Given the description of an element on the screen output the (x, y) to click on. 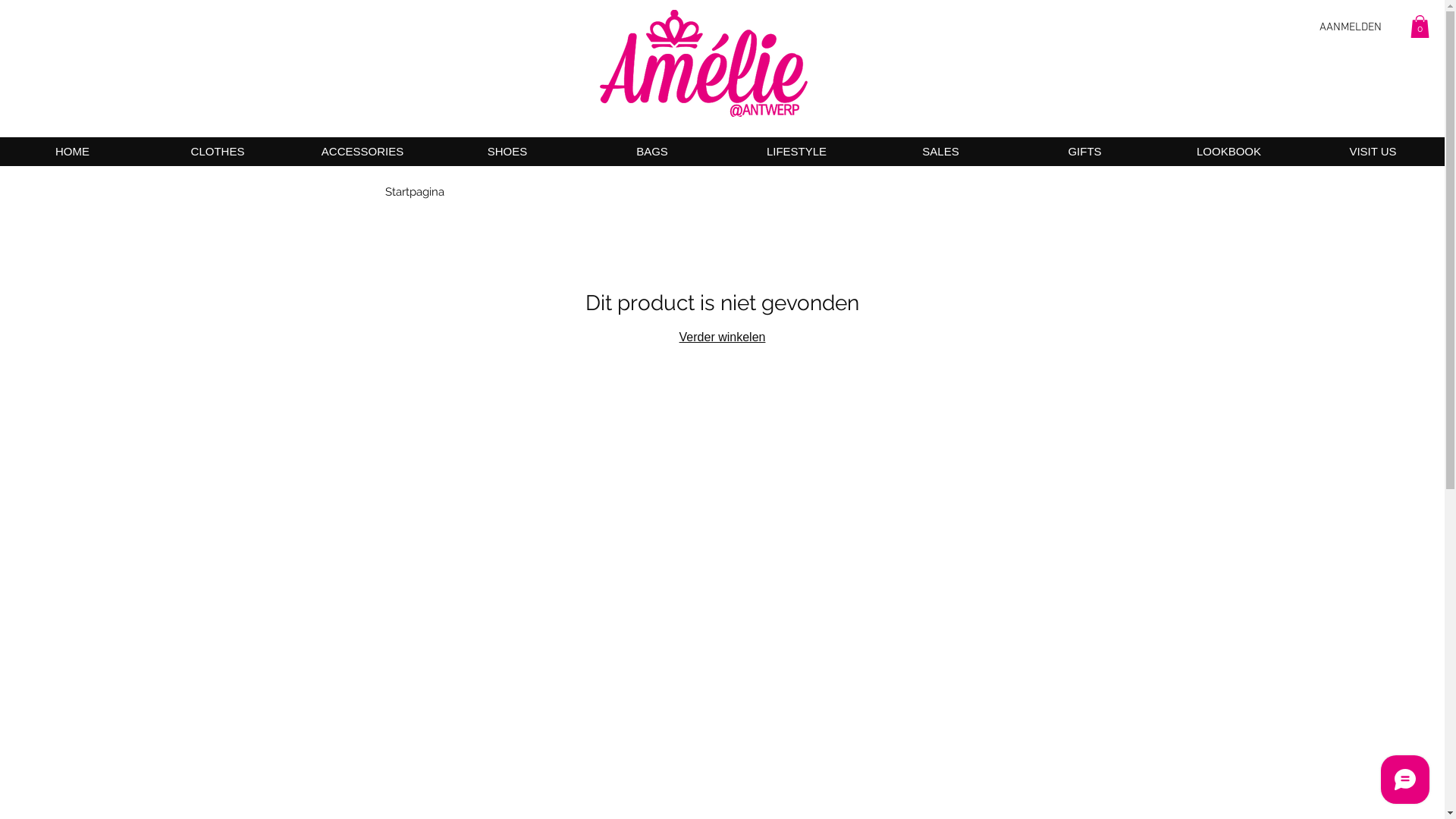
Verder winkelen Element type: text (722, 336)
BAGS Element type: text (651, 151)
Startpagina Element type: text (414, 191)
GIFTS Element type: text (1084, 151)
LIFESTYLE Element type: text (796, 151)
HOME Element type: text (72, 151)
0 Element type: text (1419, 26)
SHOES Element type: text (506, 151)
VISIT US Element type: text (1372, 151)
LOOKBOOK Element type: text (1228, 151)
CLOTHES Element type: text (216, 151)
ACCESSORIES Element type: text (361, 151)
AANMELDEN Element type: text (1350, 27)
SALES Element type: text (940, 151)
